Given the description of an element on the screen output the (x, y) to click on. 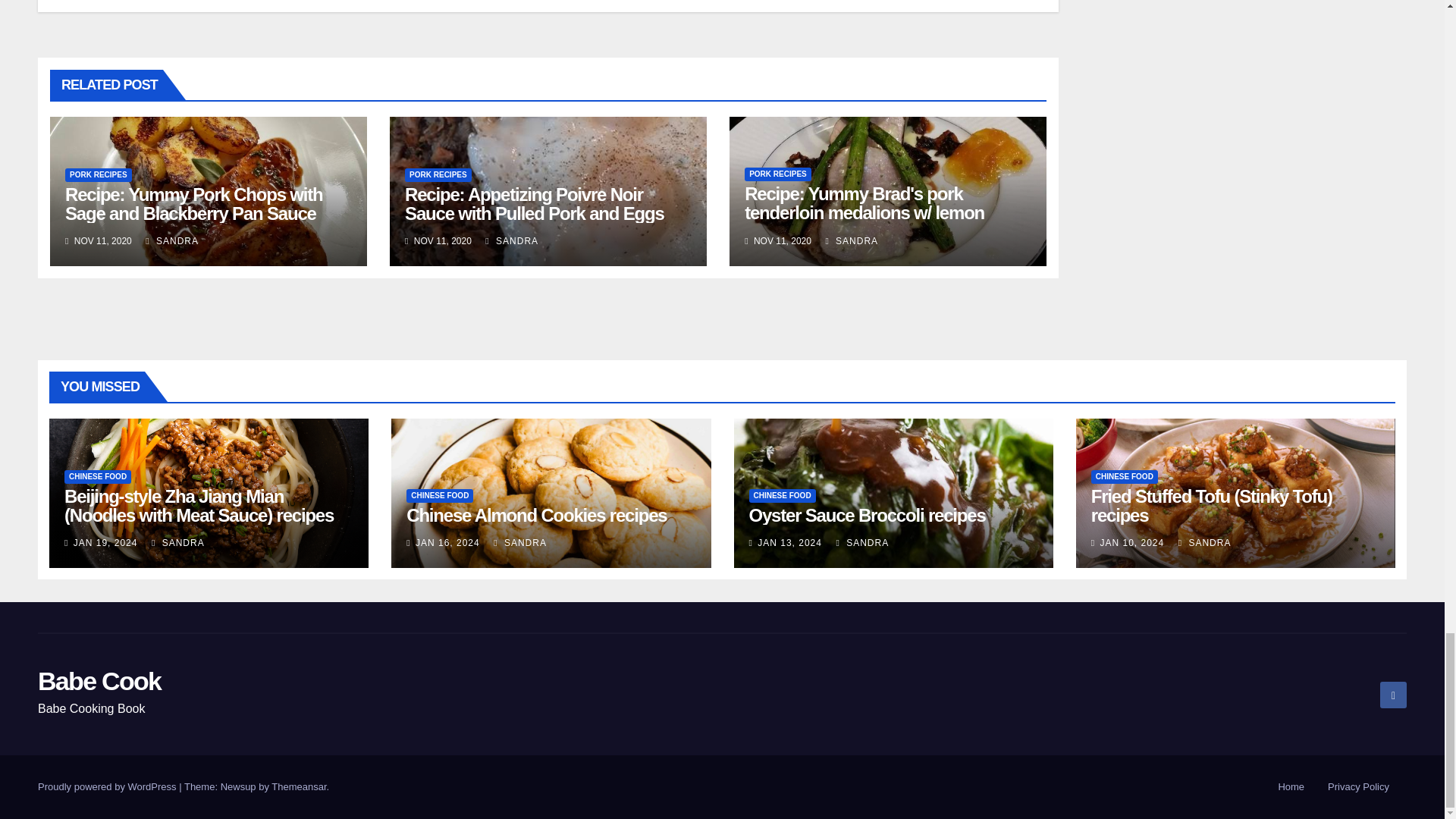
CHINESE FOOD (97, 477)
SANDRA (511, 240)
PORK RECIPES (437, 174)
SANDRA (851, 240)
PORK RECIPES (98, 174)
Recipe: Yummy Pork Chops with Sage and Blackberry Pan Sauce (194, 203)
PORK RECIPES (777, 173)
SANDRA (171, 240)
